Given the description of an element on the screen output the (x, y) to click on. 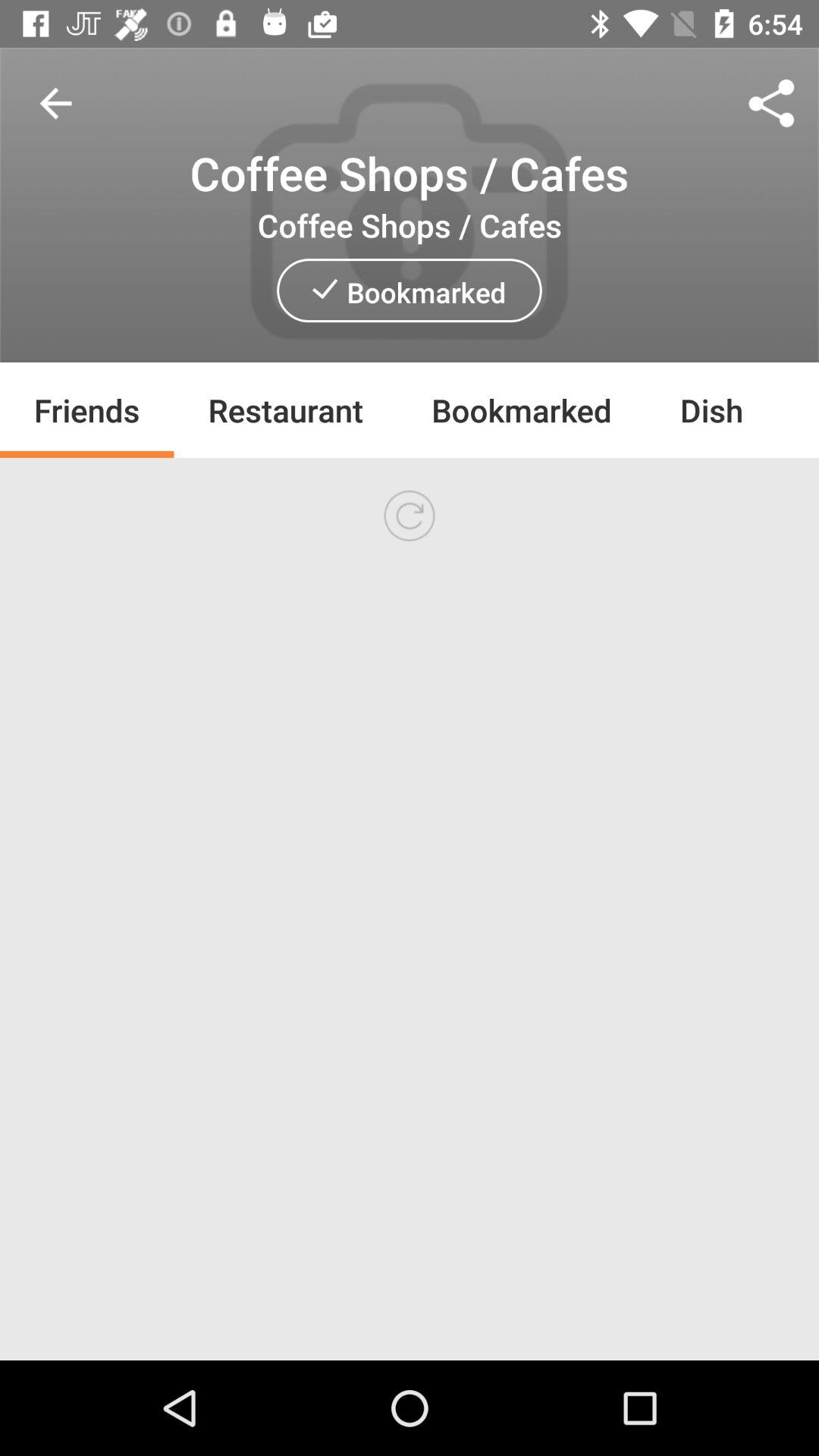
go to did not loading (409, 515)
